Given the description of an element on the screen output the (x, y) to click on. 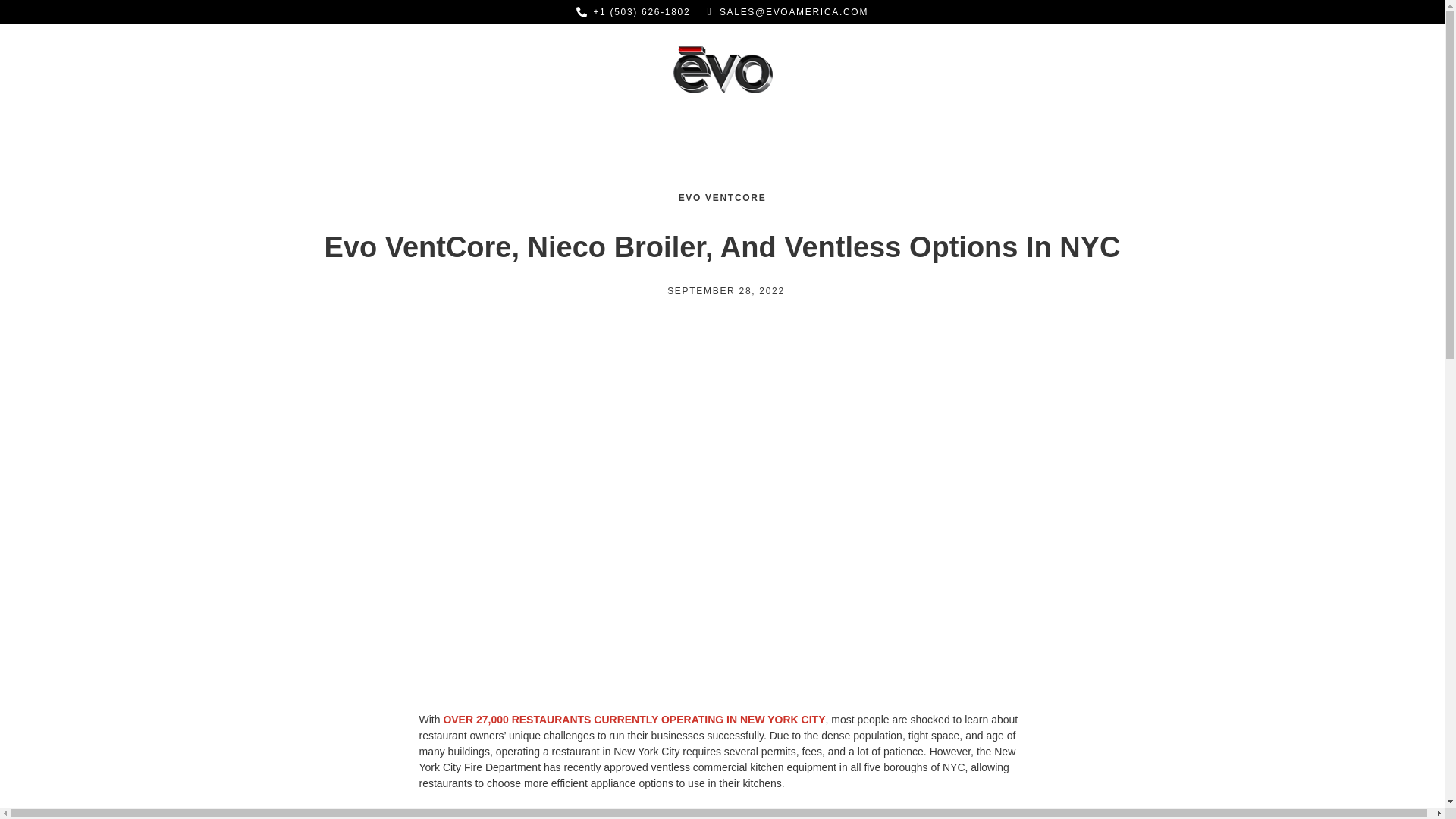
EVO VENTCORE (722, 197)
OVER 27,000 RESTAURANTS CURRENTLY OPERATING IN NEW YORK CITY (633, 719)
